Given the description of an element on the screen output the (x, y) to click on. 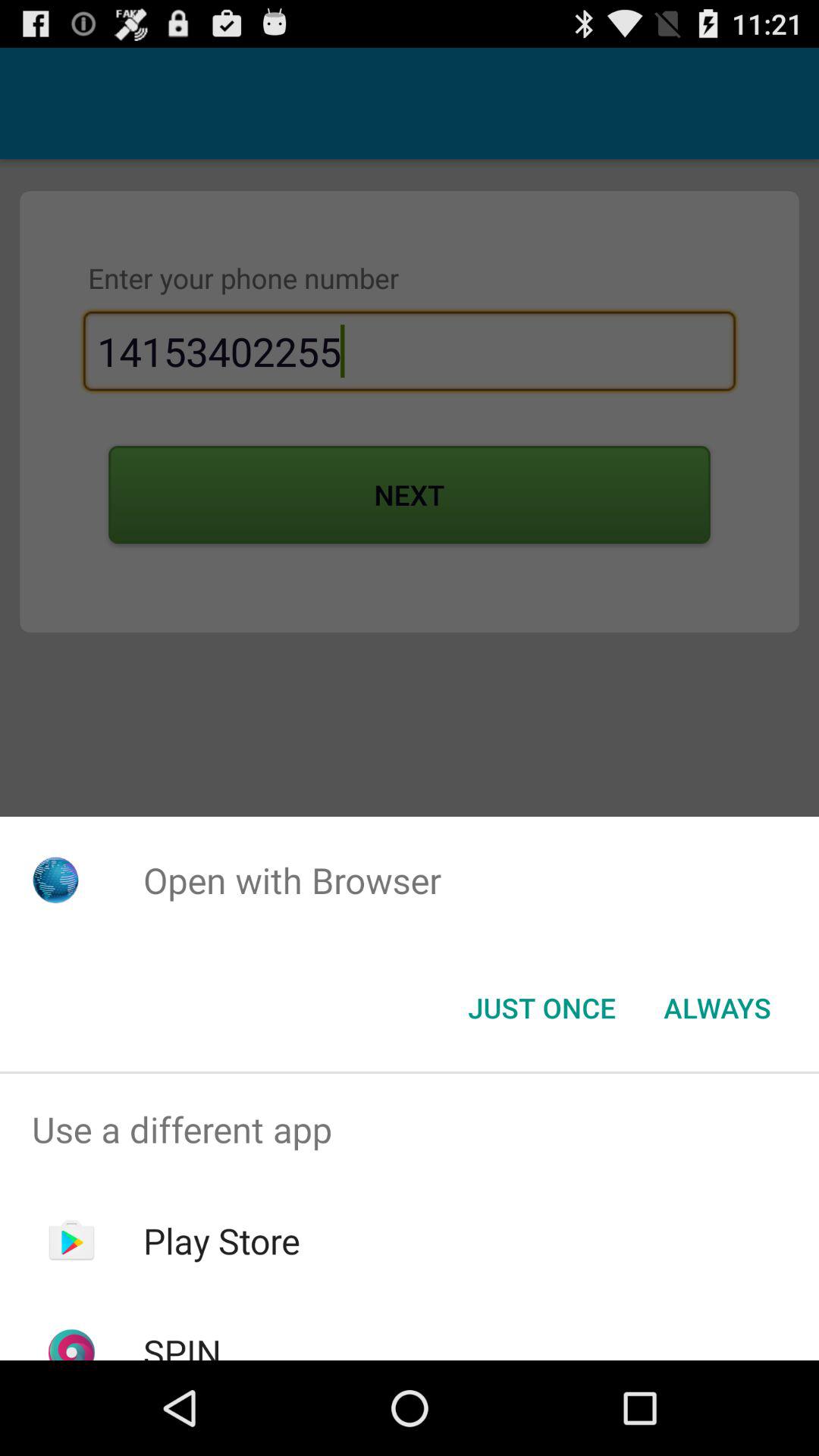
choose just once (541, 1007)
